Given the description of an element on the screen output the (x, y) to click on. 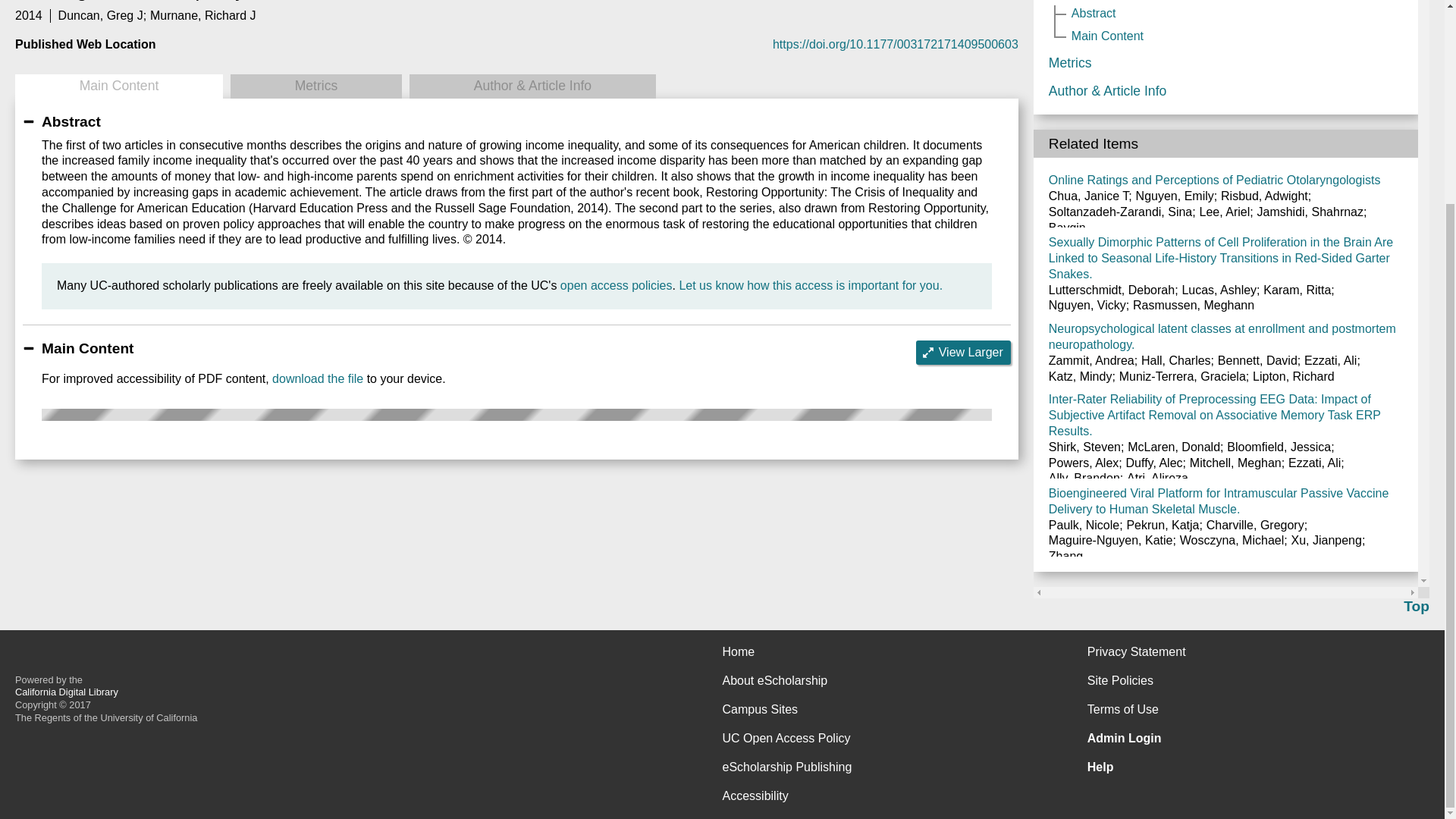
Let us know how this access is important for you. (810, 285)
download the file (317, 378)
Metrics (315, 86)
open access policies (616, 285)
Main Content (118, 86)
Duncan, Greg J (100, 15)
Murnane, Richard J (202, 15)
View Larger (962, 352)
